Given the description of an element on the screen output the (x, y) to click on. 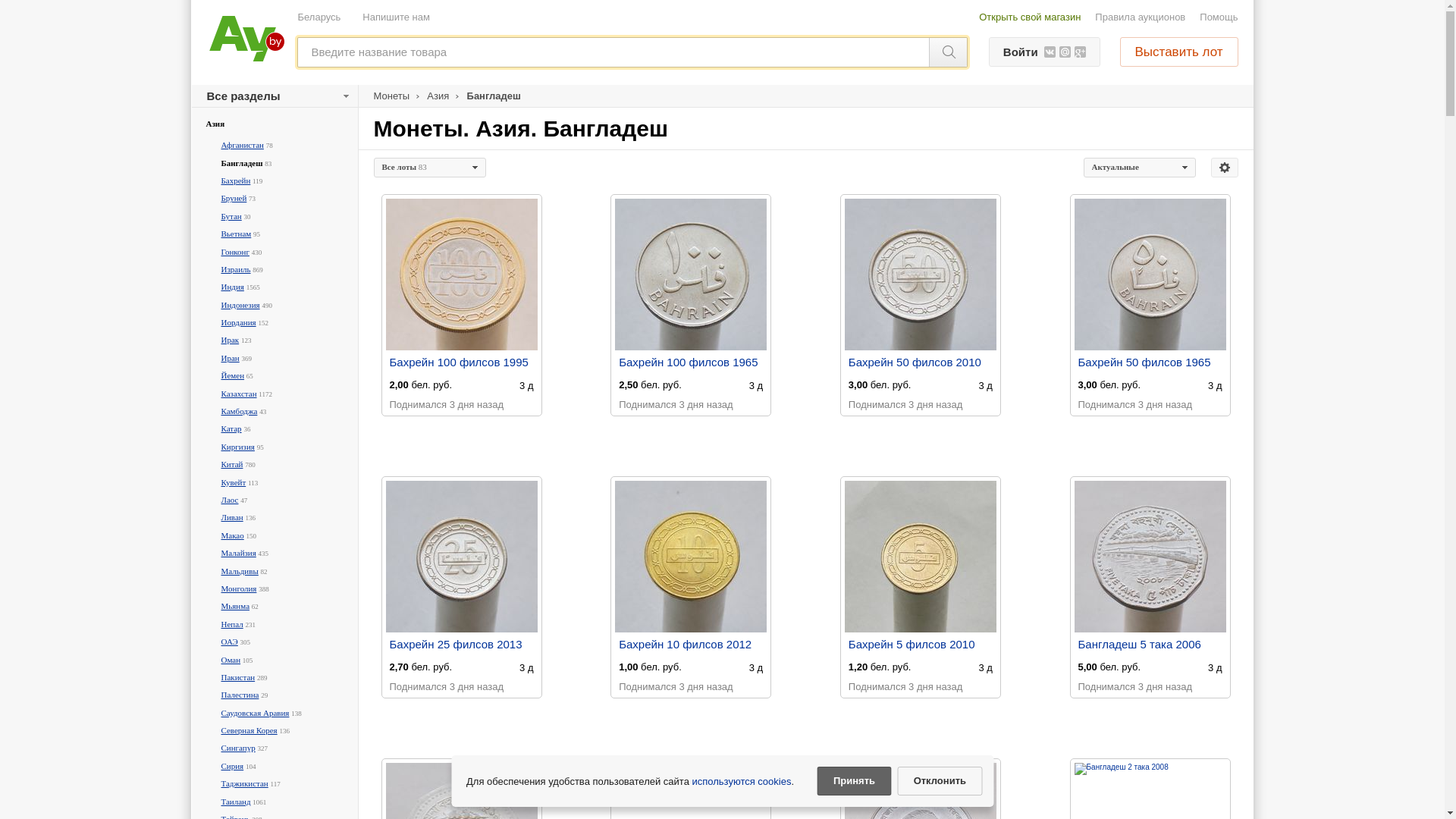
login Element type: text (721, 172)
pp Element type: text (721, 291)
